Given the description of an element on the screen output the (x, y) to click on. 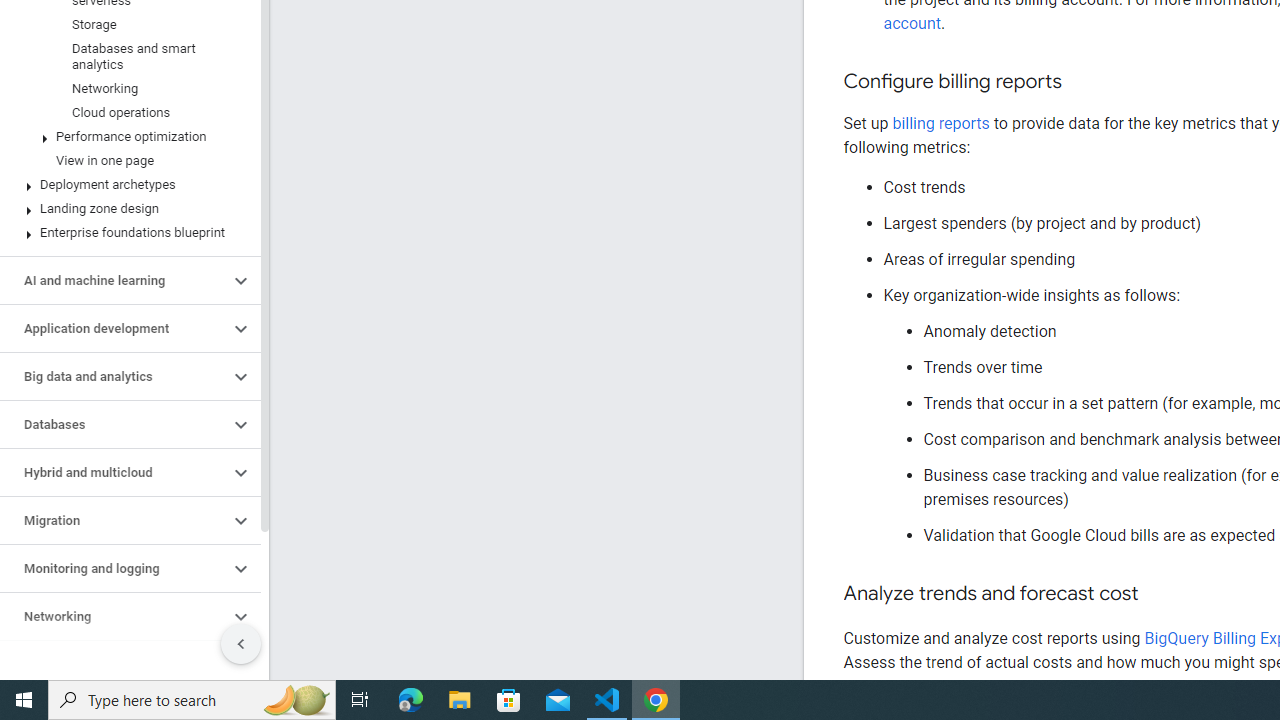
Deployment archetypes (126, 97)
Hide side navigation (241, 556)
Networking (114, 529)
Copy link to this section: Configure billing reports (1081, 82)
Big data and analytics (114, 289)
Reliability and disaster recovery (114, 577)
Cloud operations (126, 25)
Databases (114, 337)
Application development (114, 241)
Copy link to this section: Analyze trends and forecast cost (1157, 593)
Performance optimization (126, 49)
Landing zone design (126, 121)
Migration (114, 433)
View in one page (126, 73)
